Given the description of an element on the screen output the (x, y) to click on. 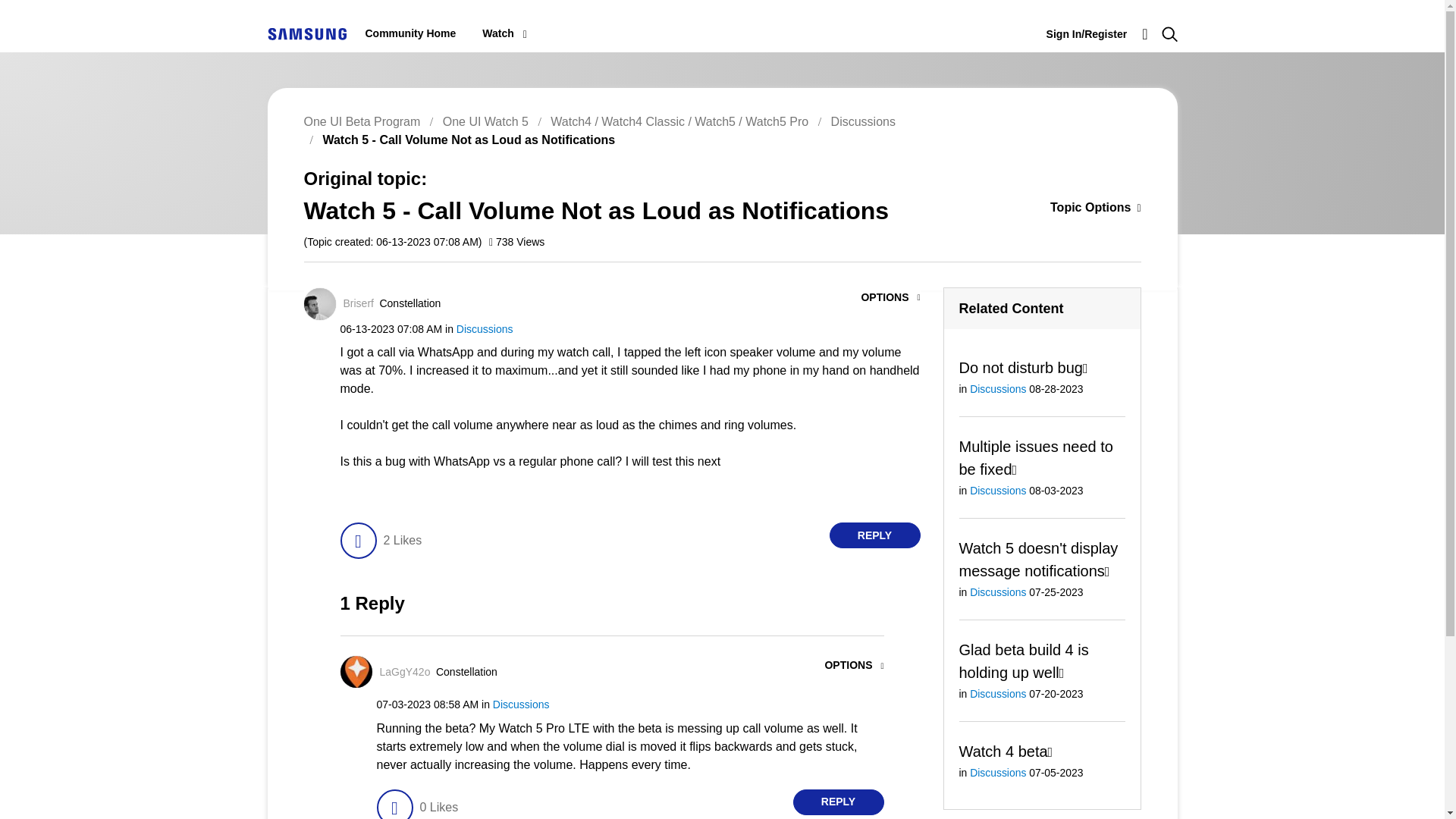
One UI Beta Program (361, 121)
One UI Watch 5 (485, 121)
Show option menu (1072, 208)
Briserf (357, 303)
Discussions (485, 328)
REPLY (874, 534)
2 Likes (401, 540)
Samsung (306, 33)
Discussions (863, 121)
Samsung (306, 33)
